Given the description of an element on the screen output the (x, y) to click on. 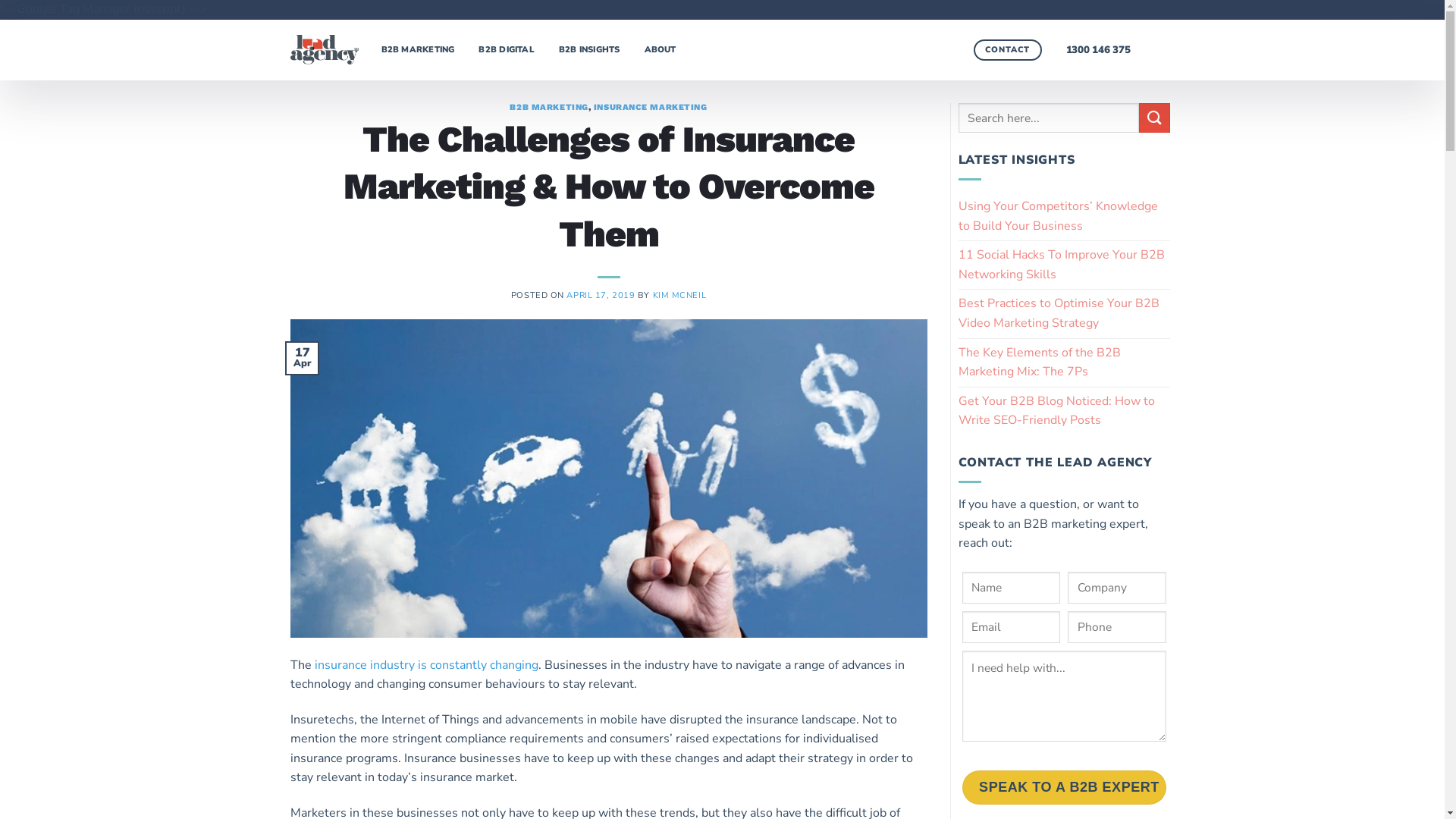
Skip to content Element type: text (207, 0)
CONTACT Element type: text (1007, 49)
B2B DIGITAL Element type: text (505, 49)
INSURANCE MARKETING Element type: text (650, 107)
SPEAK TO A B2B EXPERT Element type: text (1063, 787)
1300 146 375 Element type: text (1098, 49)
Best Practices to Optimise Your B2B Video Marketing Strategy Element type: text (1064, 313)
B2B MARKETING Element type: text (548, 107)
ABOUT Element type: text (660, 49)
11 Social Hacks To Improve Your B2B Networking Skills Element type: text (1064, 264)
APRIL 17, 2019 Element type: text (600, 295)
B2B INSIGHTS Element type: text (589, 49)
The Key Elements of the B2B Marketing Mix: The 7Ps Element type: text (1064, 362)
insurance industry is constantly changing Element type: text (425, 664)
KIM MCNEIL Element type: text (679, 295)
Get Your B2B Blog Noticed: How to Write SEO-Friendly Posts Element type: text (1064, 411)
B2B MARKETING Element type: text (417, 49)
